Given the description of an element on the screen output the (x, y) to click on. 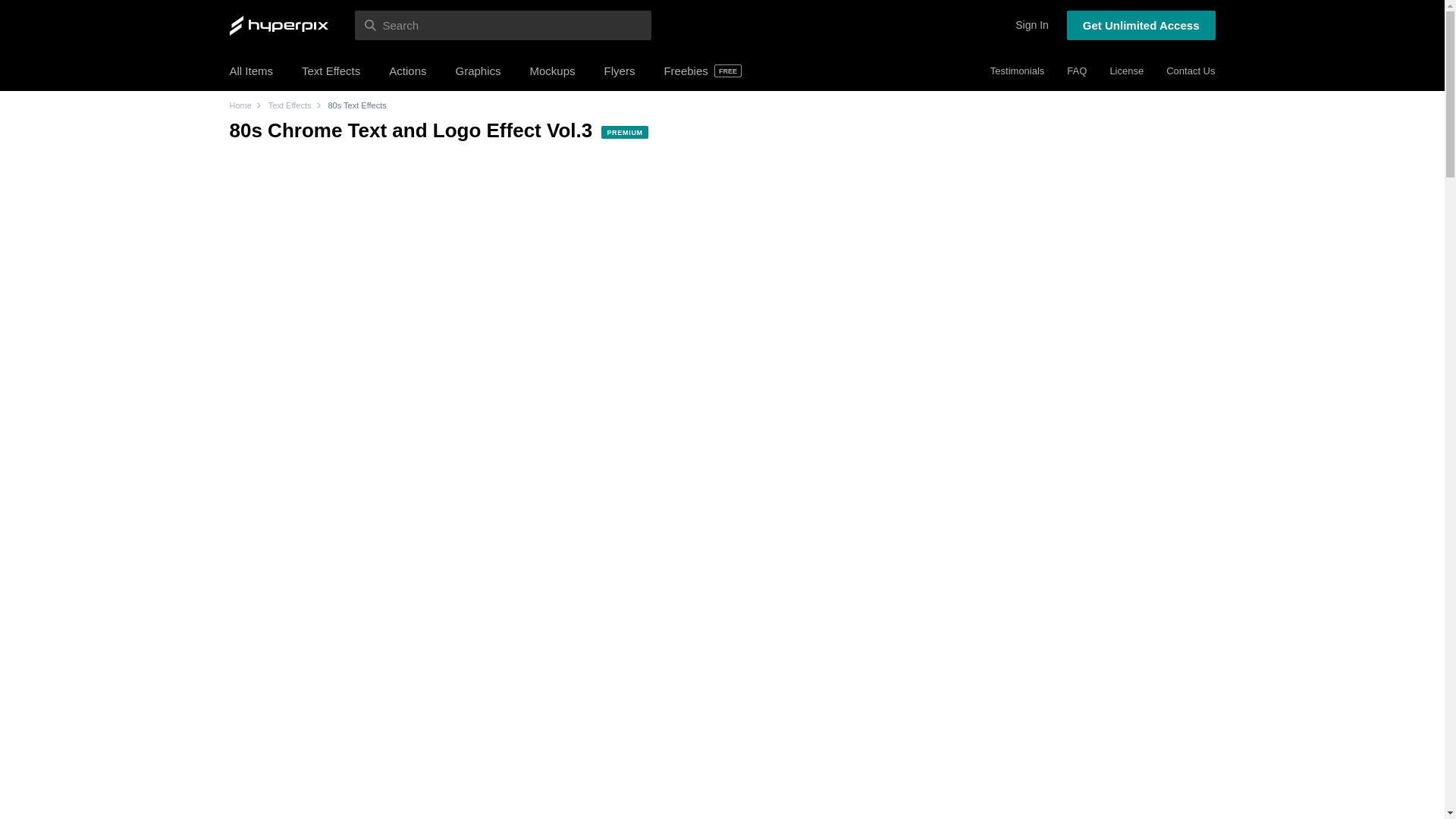
Graphics (477, 71)
License (1125, 71)
All Items (250, 71)
Actions (407, 71)
Text Effects (330, 71)
Testimonials (1017, 71)
Mockups (552, 71)
Get Unlimited Access (1141, 25)
Contact Us (1190, 71)
Sign In (1032, 25)
